Given the description of an element on the screen output the (x, y) to click on. 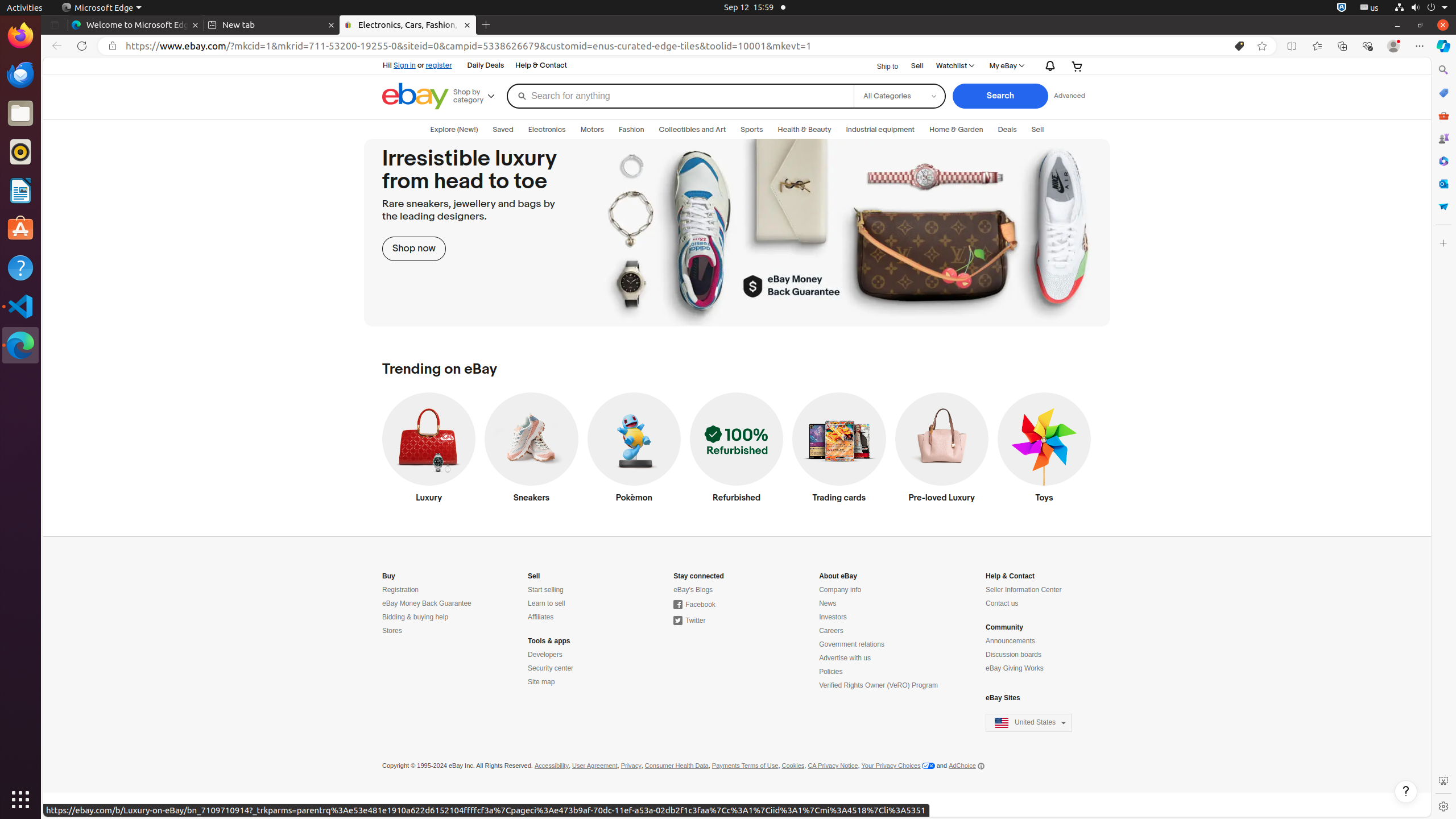
Twitter Element type: link (689, 620)
Consumer Health Data Element type: link (676, 765)
Tab actions menu Element type: push-button (54, 24)
About eBay Element type: link (838, 576)
Learn to sell Element type: link (546, 603)
